Given the description of an element on the screen output the (x, y) to click on. 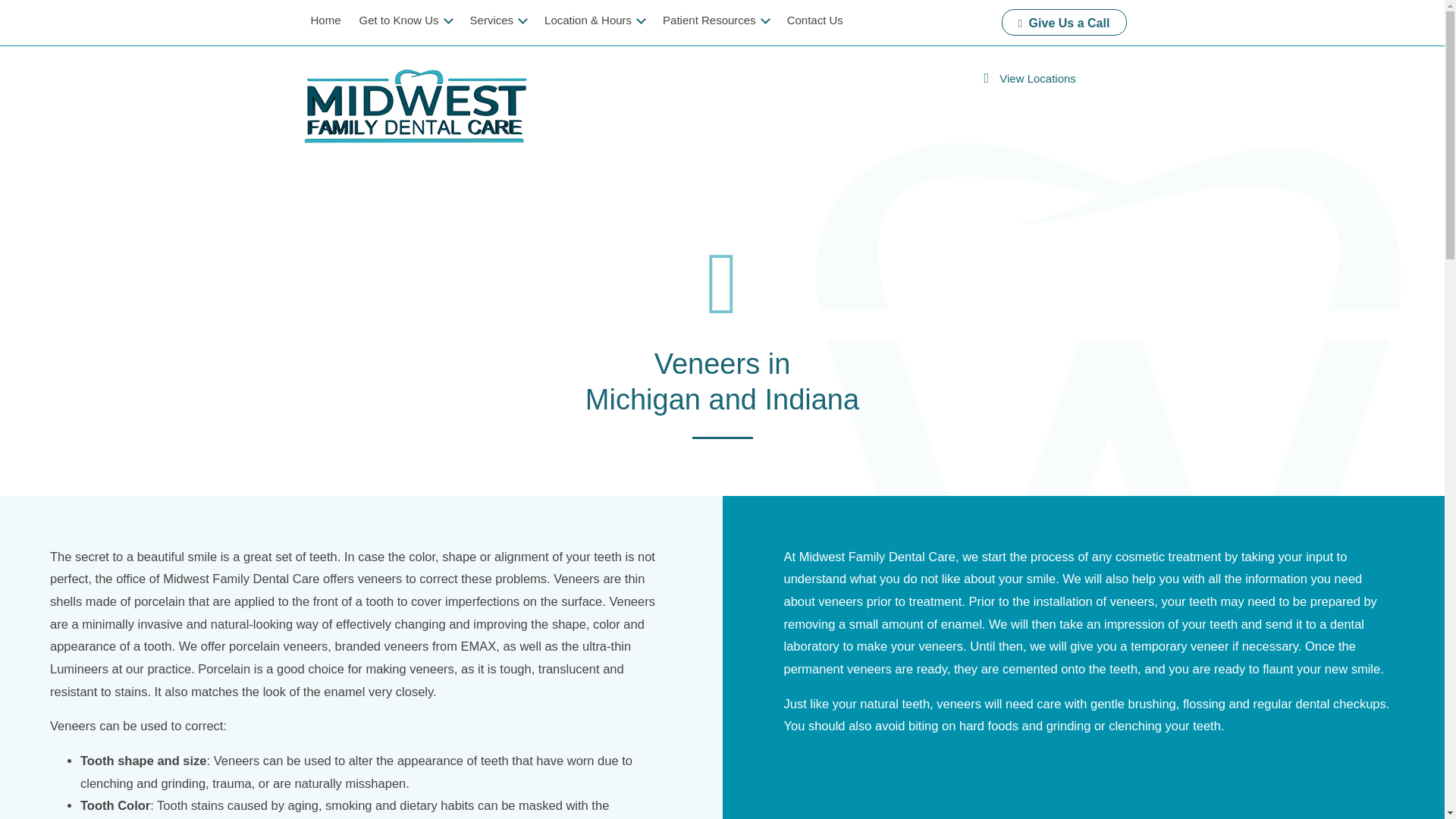
Contact Us (814, 20)
Patient Resources (715, 20)
Home (325, 20)
Get to Know Us (405, 20)
View Locations (344, 17)
Give Us a Call (1063, 22)
Services (498, 20)
Click to like Midwest Family Dental Care Facebook Page (893, 22)
